Given the description of an element on the screen output the (x, y) to click on. 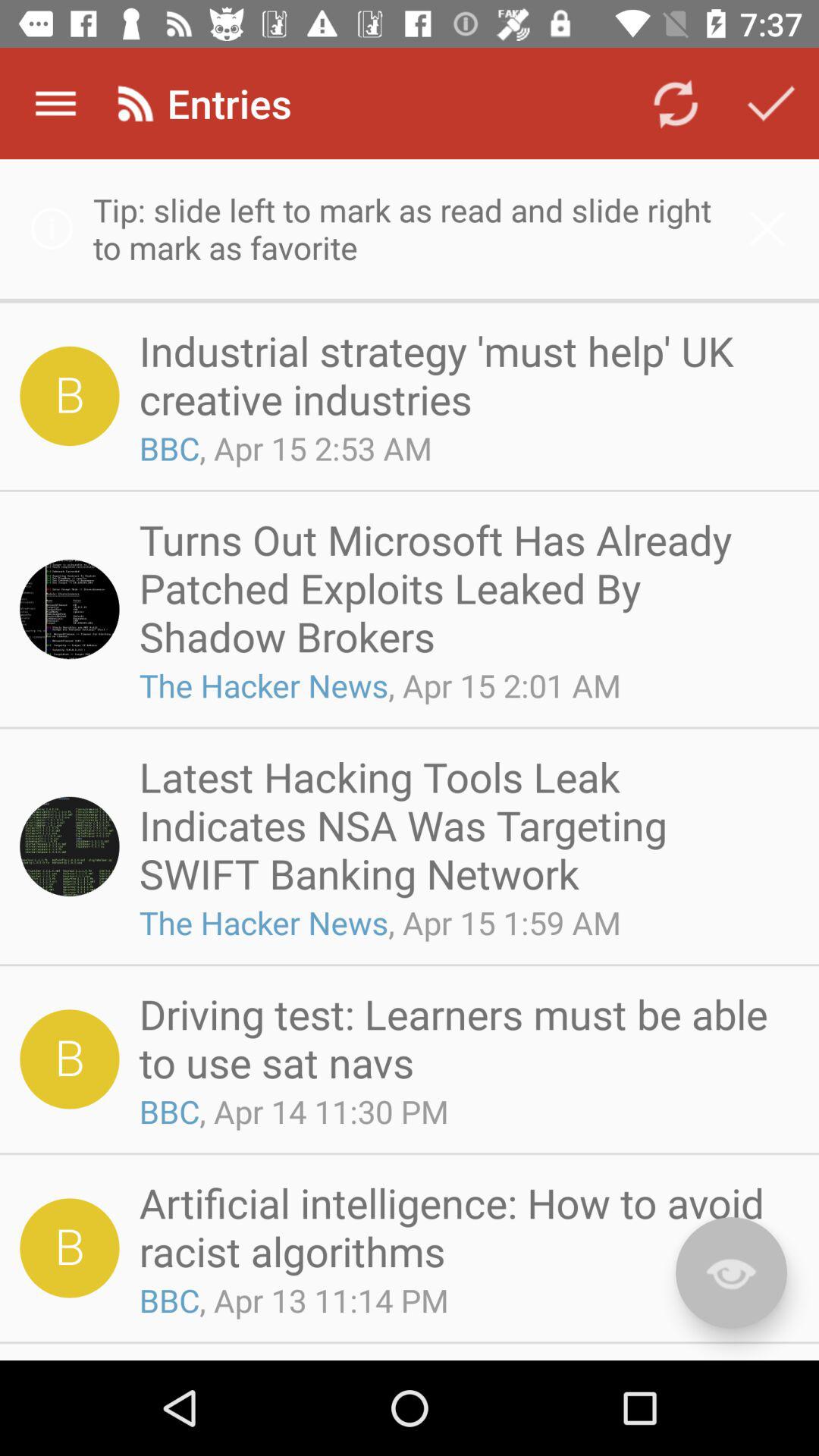
click artificial intelligence how app (463, 1226)
